Given the description of an element on the screen output the (x, y) to click on. 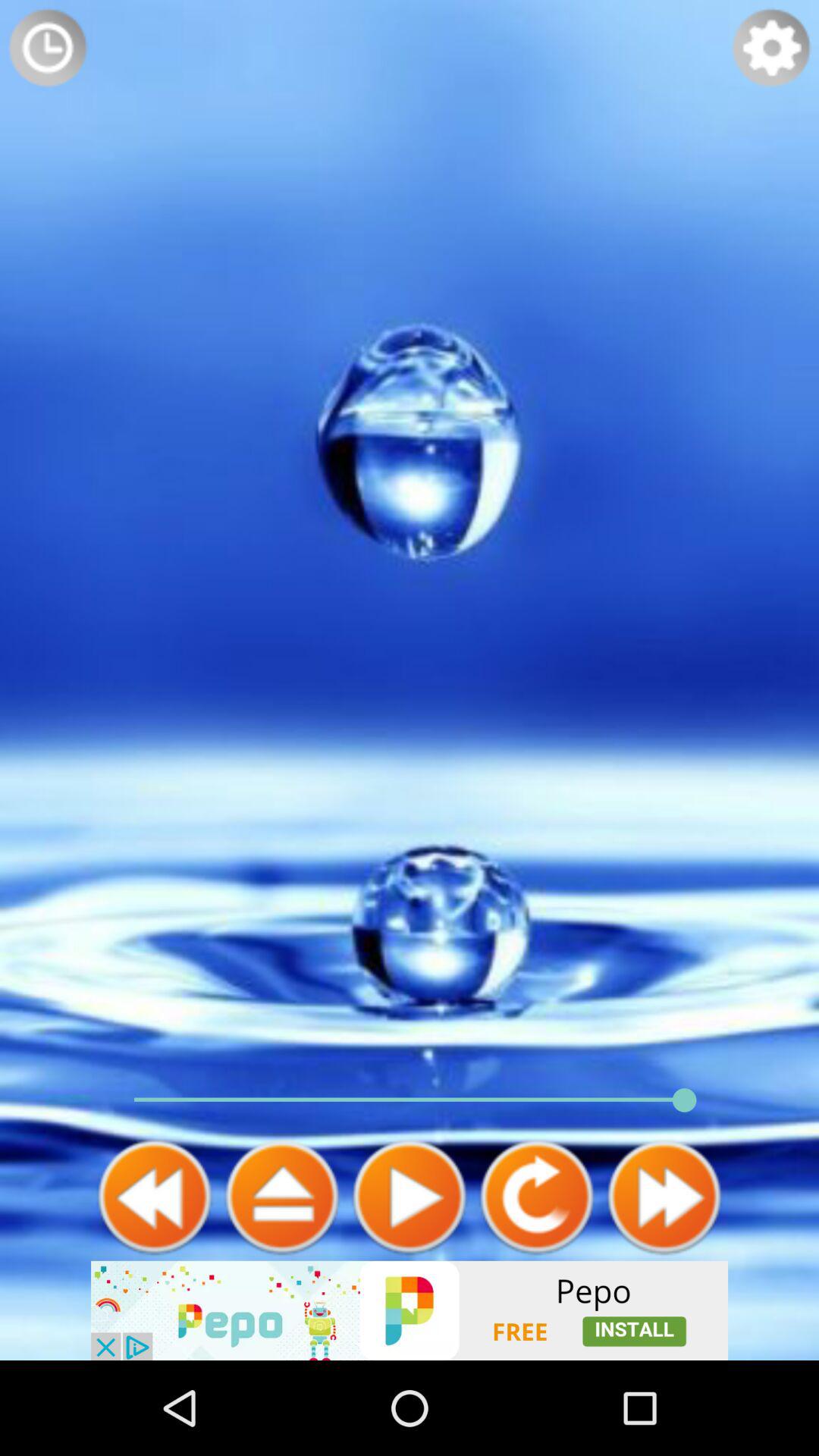
settings button (771, 47)
